Given the description of an element on the screen output the (x, y) to click on. 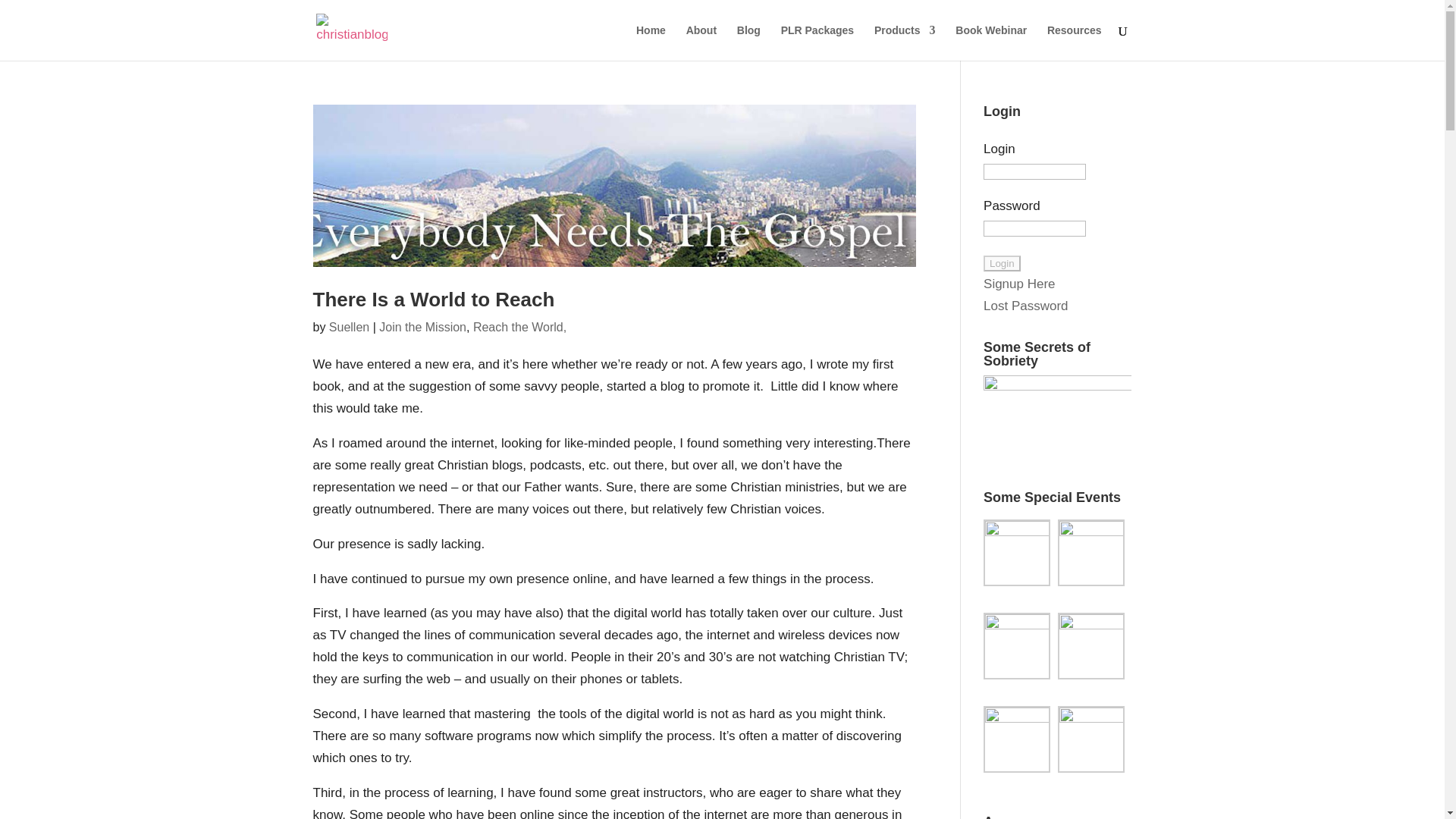
Suellen (349, 326)
Reach the World, (519, 326)
Home (650, 42)
PLR Packages (817, 42)
About (700, 42)
Login (1002, 263)
Book Webinar (990, 42)
Join the Mission (421, 326)
Blog (748, 42)
Products (905, 42)
There Is a World to Reach (433, 299)
Signup Here (1019, 283)
Posts by Suellen (349, 326)
Resources (1074, 42)
Login (1002, 263)
